Given the description of an element on the screen output the (x, y) to click on. 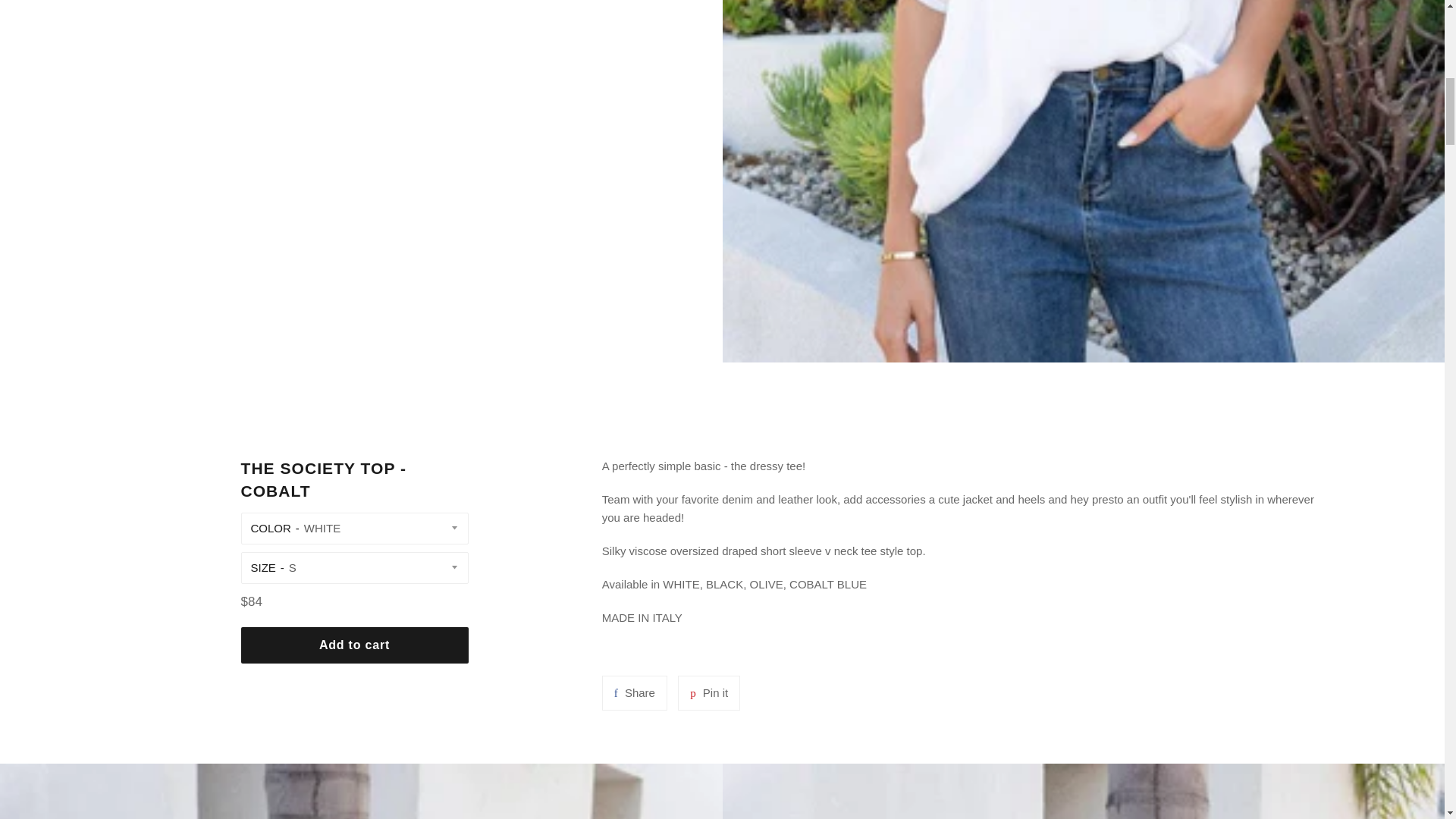
Share on Facebook (634, 692)
Add to cart (354, 645)
Pin on Pinterest (708, 692)
